Given the description of an element on the screen output the (x, y) to click on. 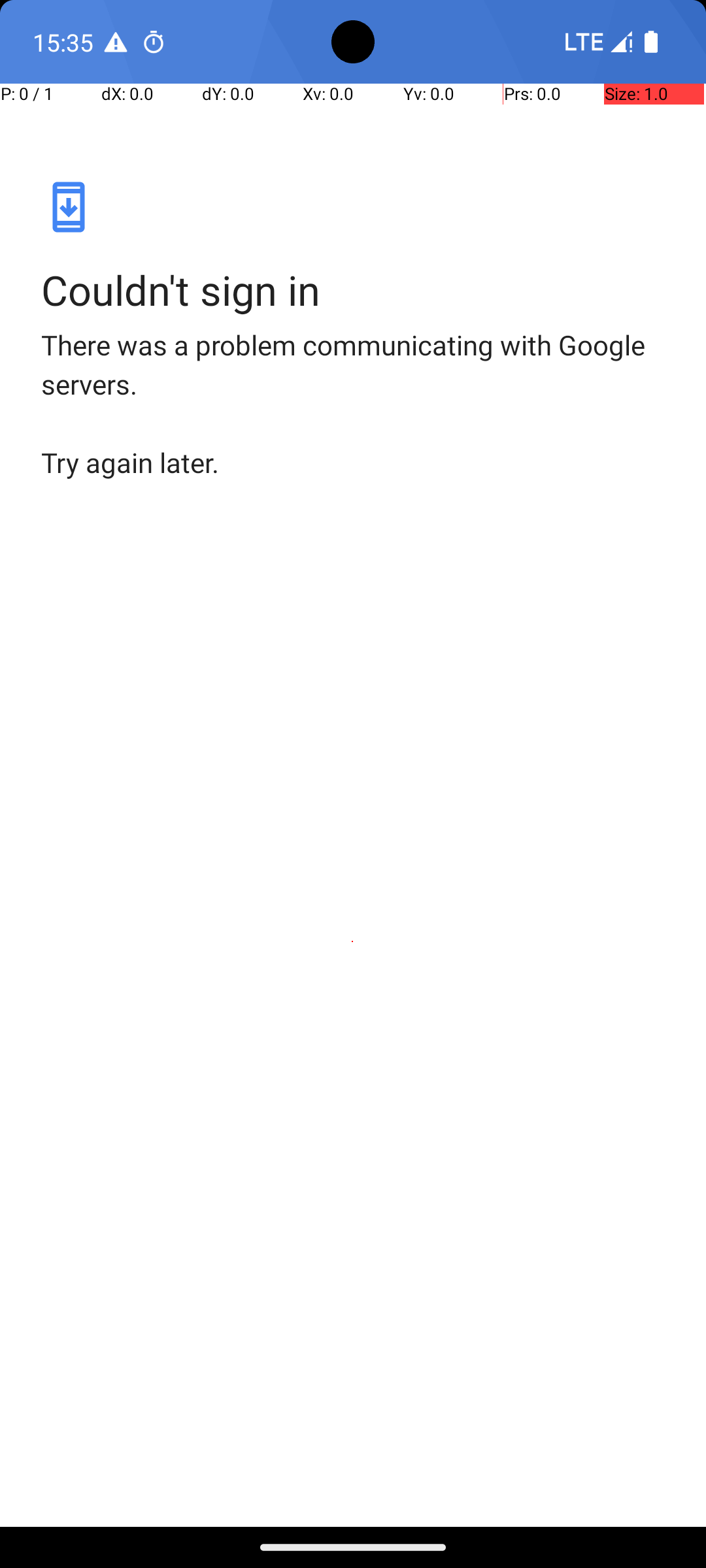
Couldn't sign in Element type: android.widget.TextView (352, 289)
There was a problem communicating with Google servers. 

Try again later. Element type: android.widget.TextView (352, 403)
15:35 Element type: android.widget.TextView (64, 41)
